Given the description of an element on the screen output the (x, y) to click on. 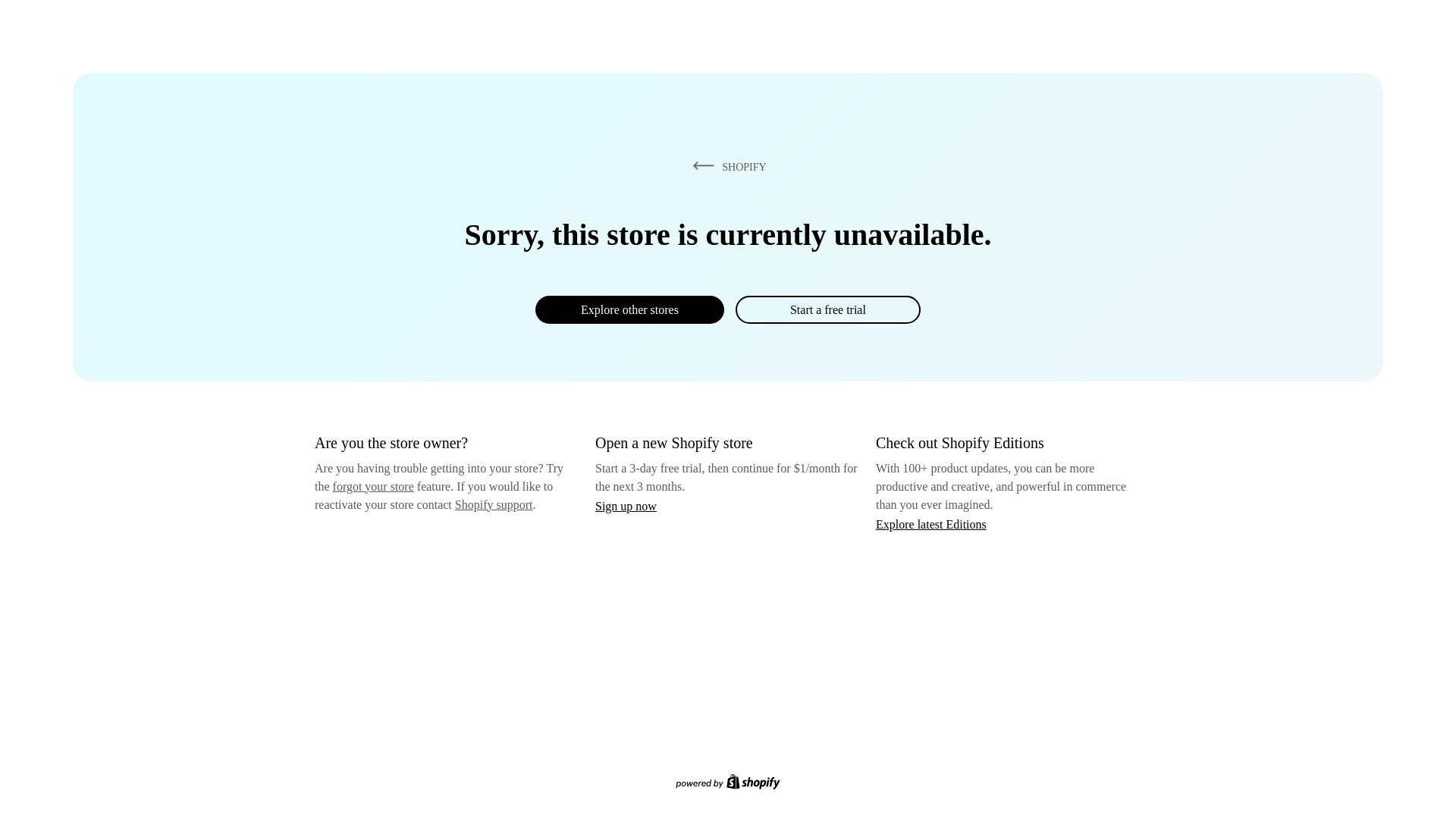
Start a free trial (827, 309)
Sign up now (625, 505)
Explore latest Editions (931, 523)
SHOPIFY (726, 166)
Explore other stores (629, 309)
Shopify support (493, 504)
forgot your store (373, 486)
